Given the description of an element on the screen output the (x, y) to click on. 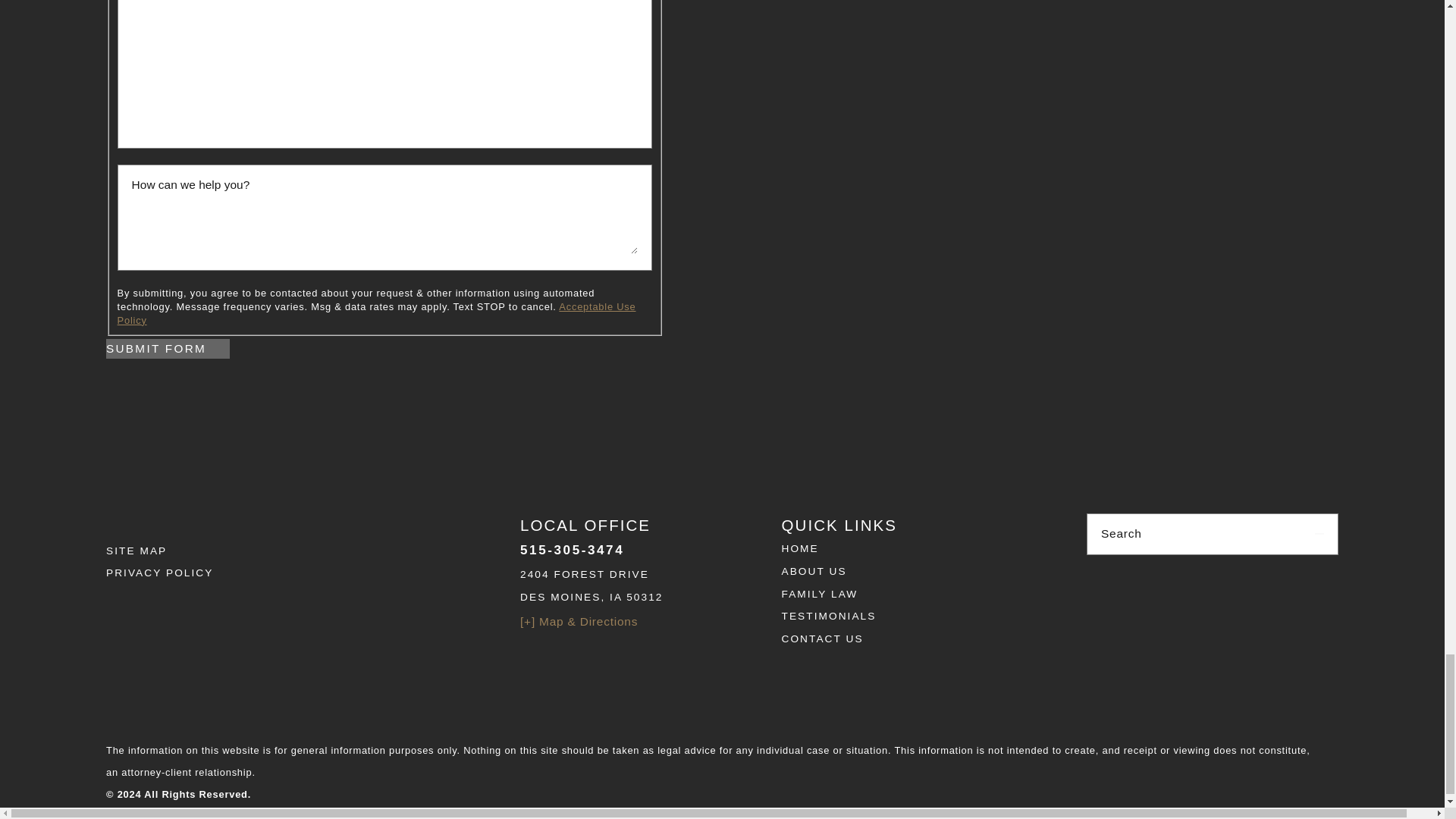
Twitter (263, 606)
Google Business Profile (196, 606)
Facebook (127, 606)
